Given the description of an element on the screen output the (x, y) to click on. 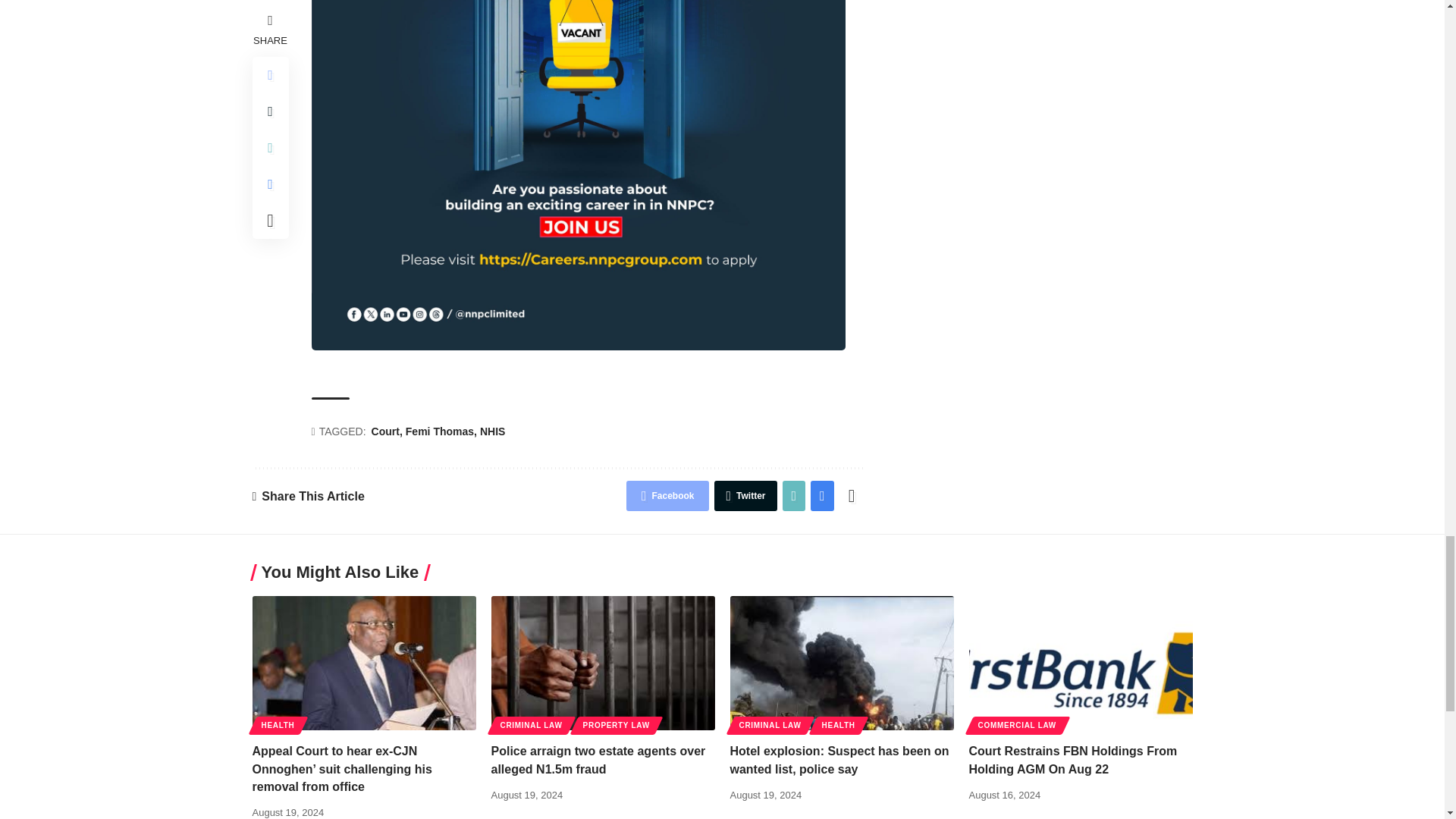
Police arraign two estate agents over alleged N1.5m fraud (603, 663)
NHIS (492, 432)
Femi Thomas (441, 432)
Court (387, 432)
Court Restrains FBN Holdings From Holding AGM On Aug 22 (1080, 663)
Facebook (668, 495)
Twitter (745, 495)
Hotel explosion: Suspect has been on wanted list, police say (841, 663)
